Given the description of an element on the screen output the (x, y) to click on. 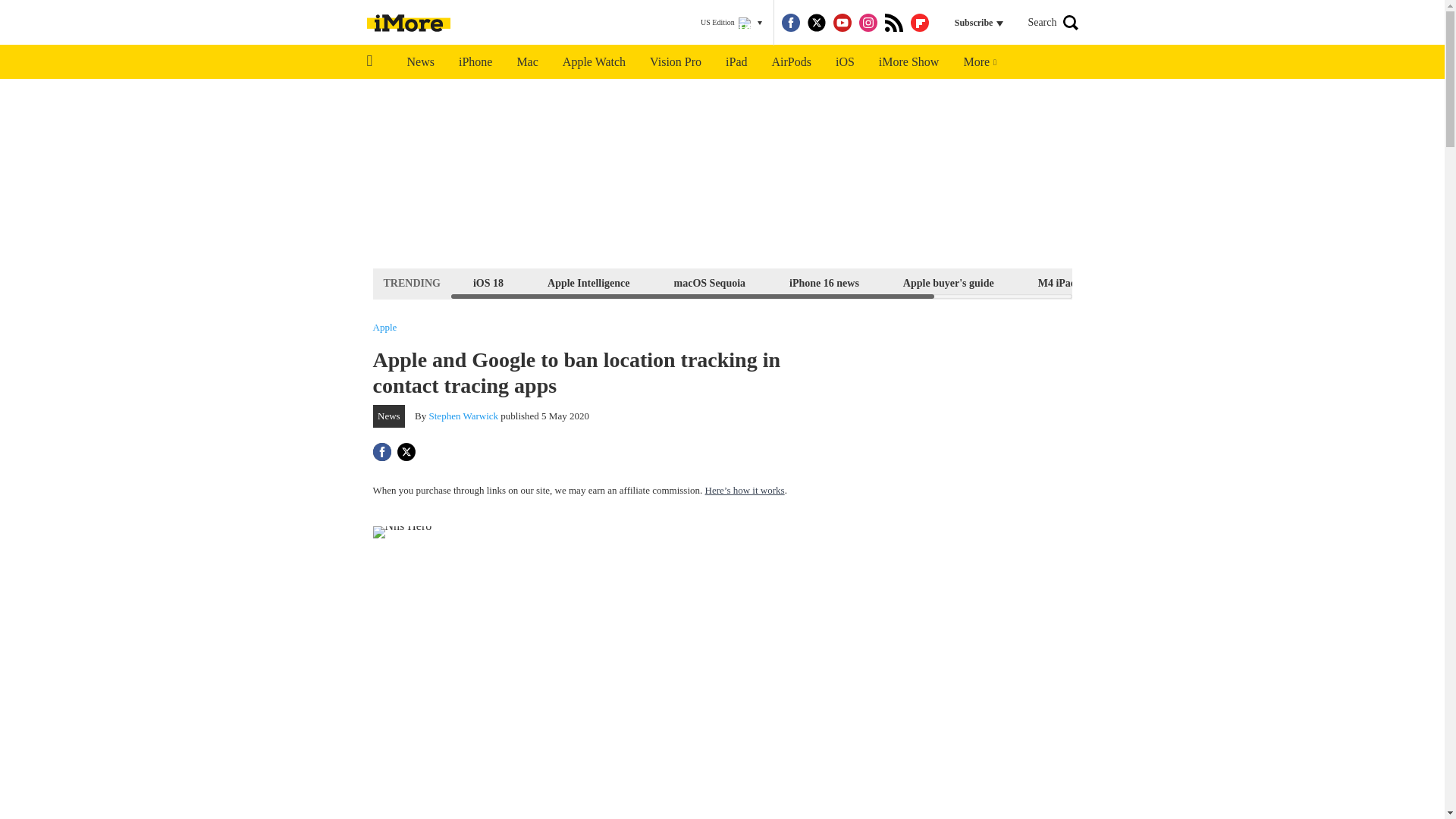
Mac (526, 61)
iMore Show (909, 61)
AirPods (792, 61)
Apple Watch (593, 61)
iPhone (474, 61)
US Edition (731, 22)
Vision Pro (675, 61)
iOS (845, 61)
iPad (735, 61)
News (419, 61)
